Given the description of an element on the screen output the (x, y) to click on. 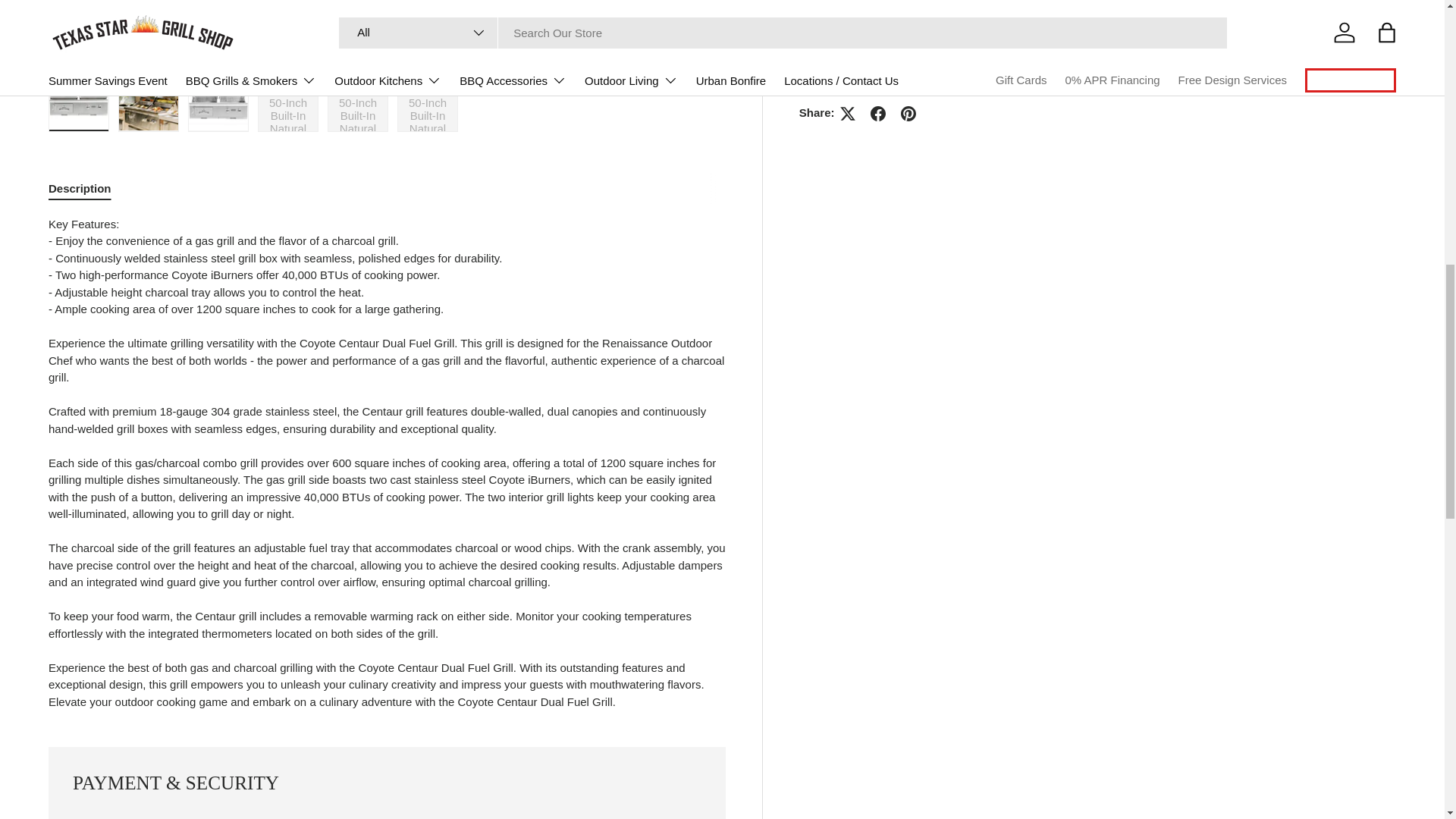
Share on Facebook (878, 89)
Pin on Pinterest (908, 89)
Description (386, 187)
Tweet on X (847, 89)
